Given the description of an element on the screen output the (x, y) to click on. 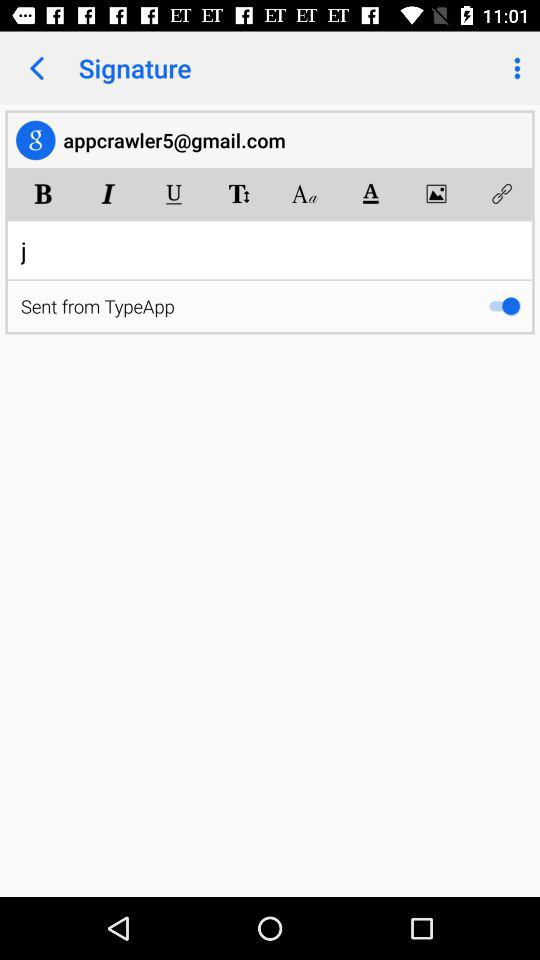
press the icon next to the signature app (36, 68)
